Given the description of an element on the screen output the (x, y) to click on. 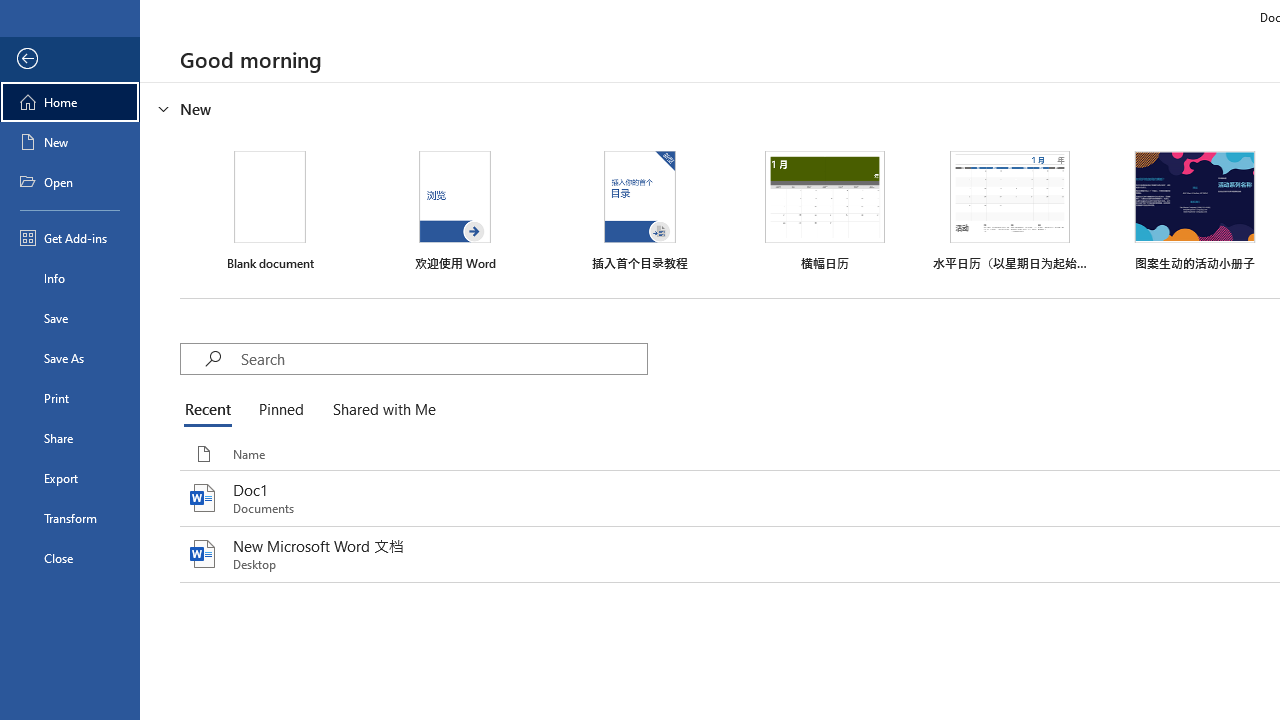
Transform (69, 517)
New (69, 141)
Shared with Me (379, 410)
Print (69, 398)
Save As (69, 357)
